Given the description of an element on the screen output the (x, y) to click on. 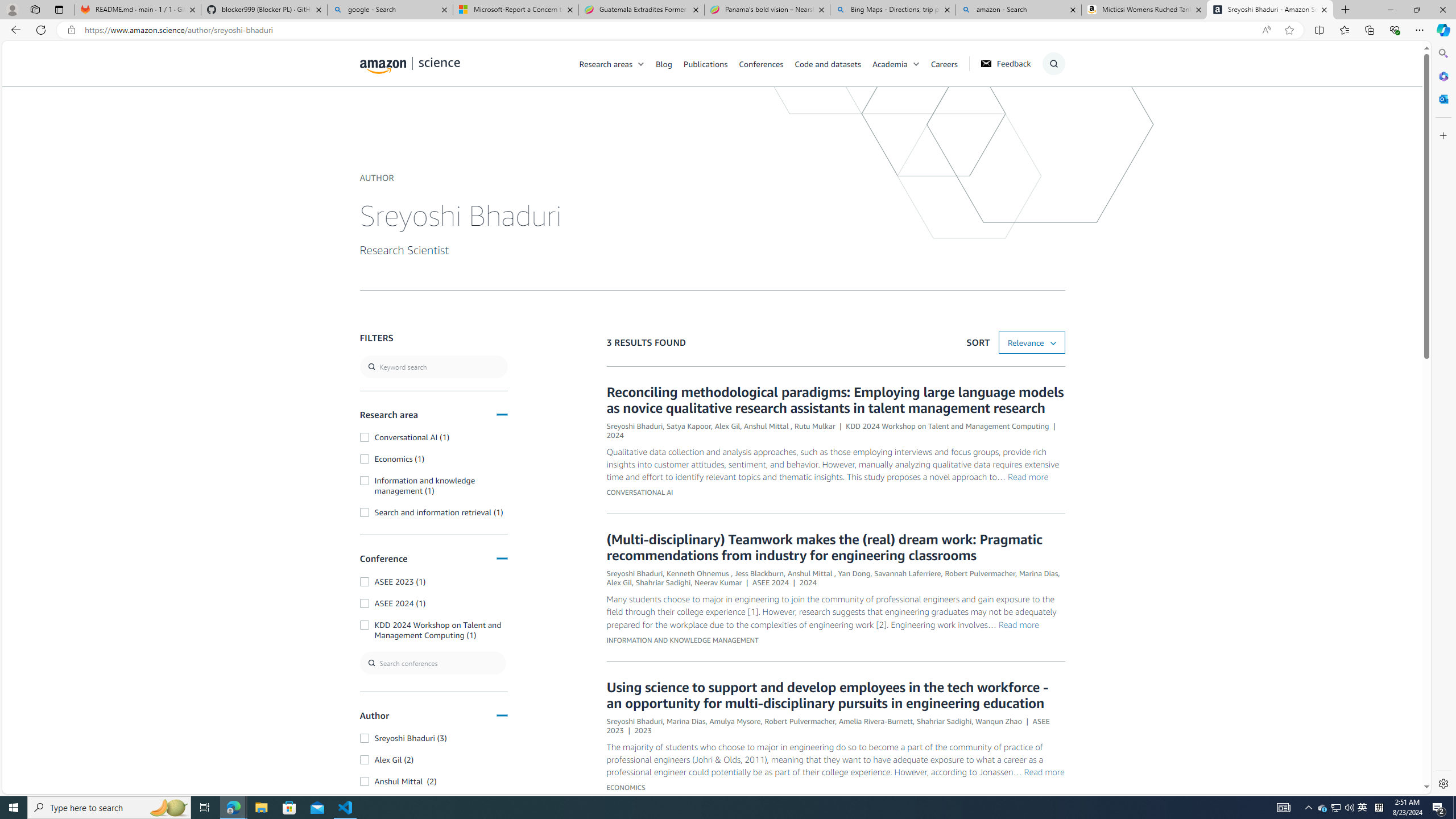
Class: chevron (916, 66)
CONVERSATIONAL AI (638, 492)
Read more (1043, 771)
